Given the description of an element on the screen output the (x, y) to click on. 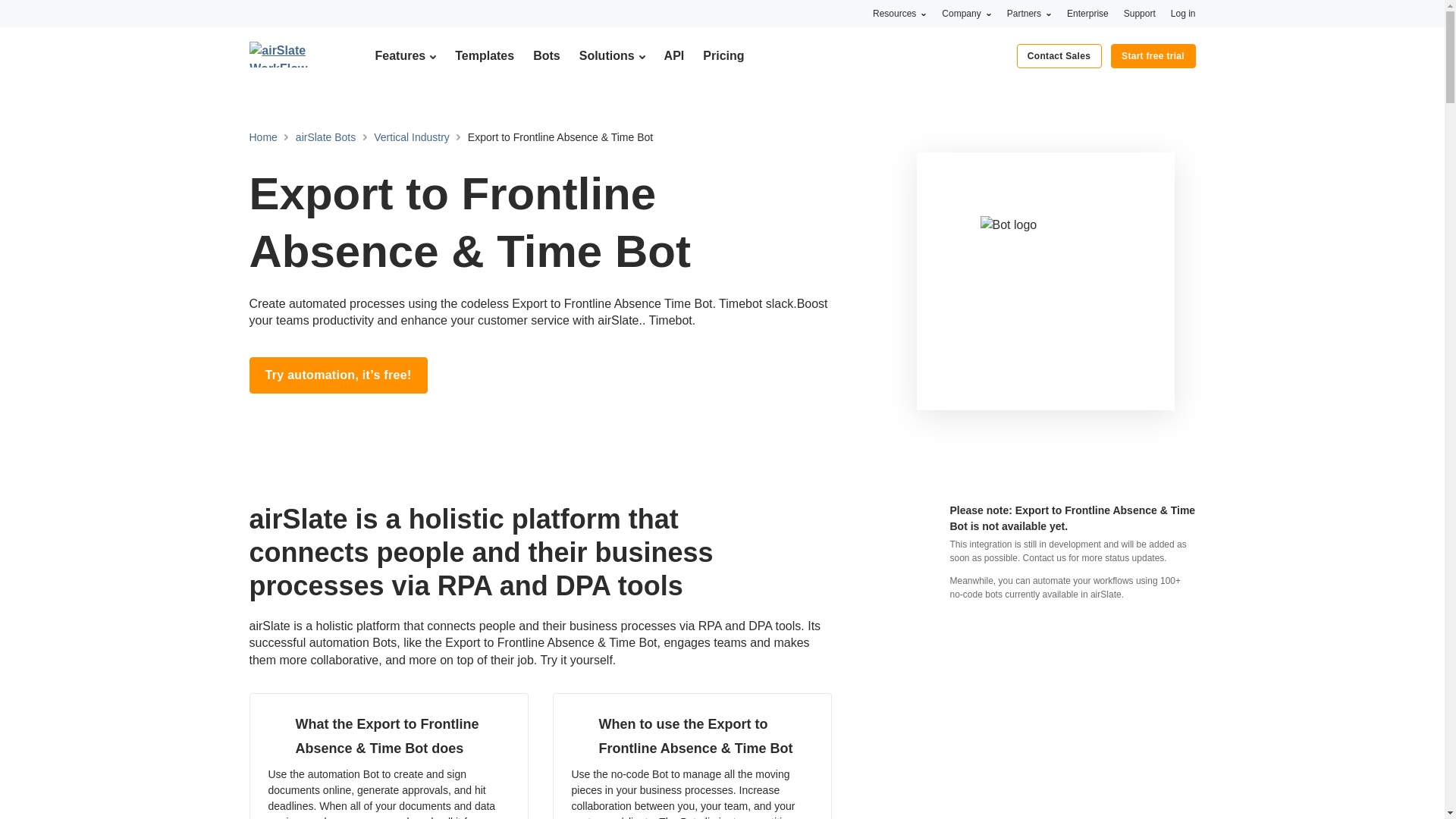
Enterprise (1087, 13)
Log in (1182, 13)
Support (1140, 13)
Templates (483, 55)
Partners (1029, 13)
Resources (899, 13)
Company (966, 13)
